Given the description of an element on the screen output the (x, y) to click on. 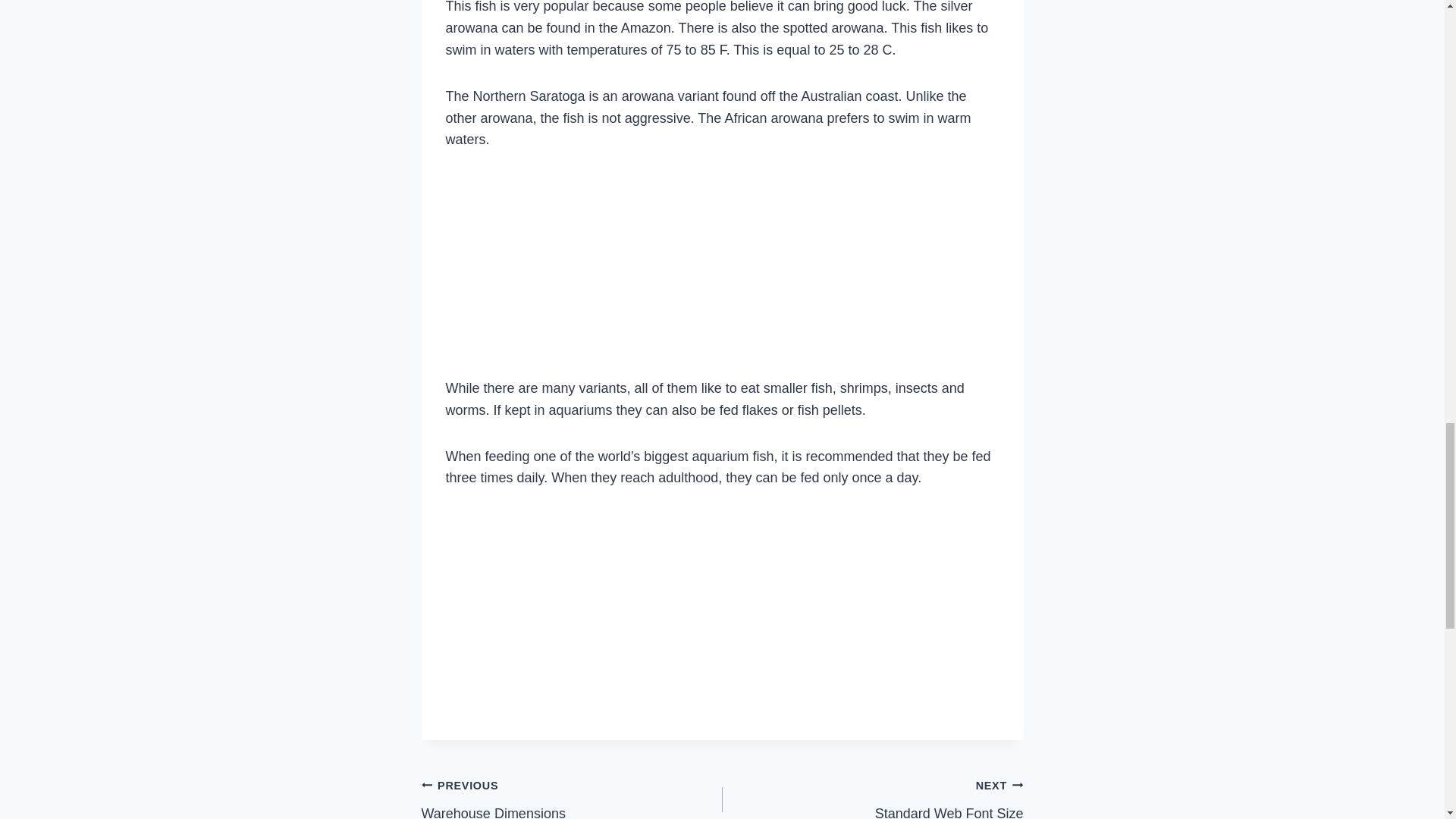
Advertisement (721, 607)
Advertisement (721, 269)
